Given the description of an element on the screen output the (x, y) to click on. 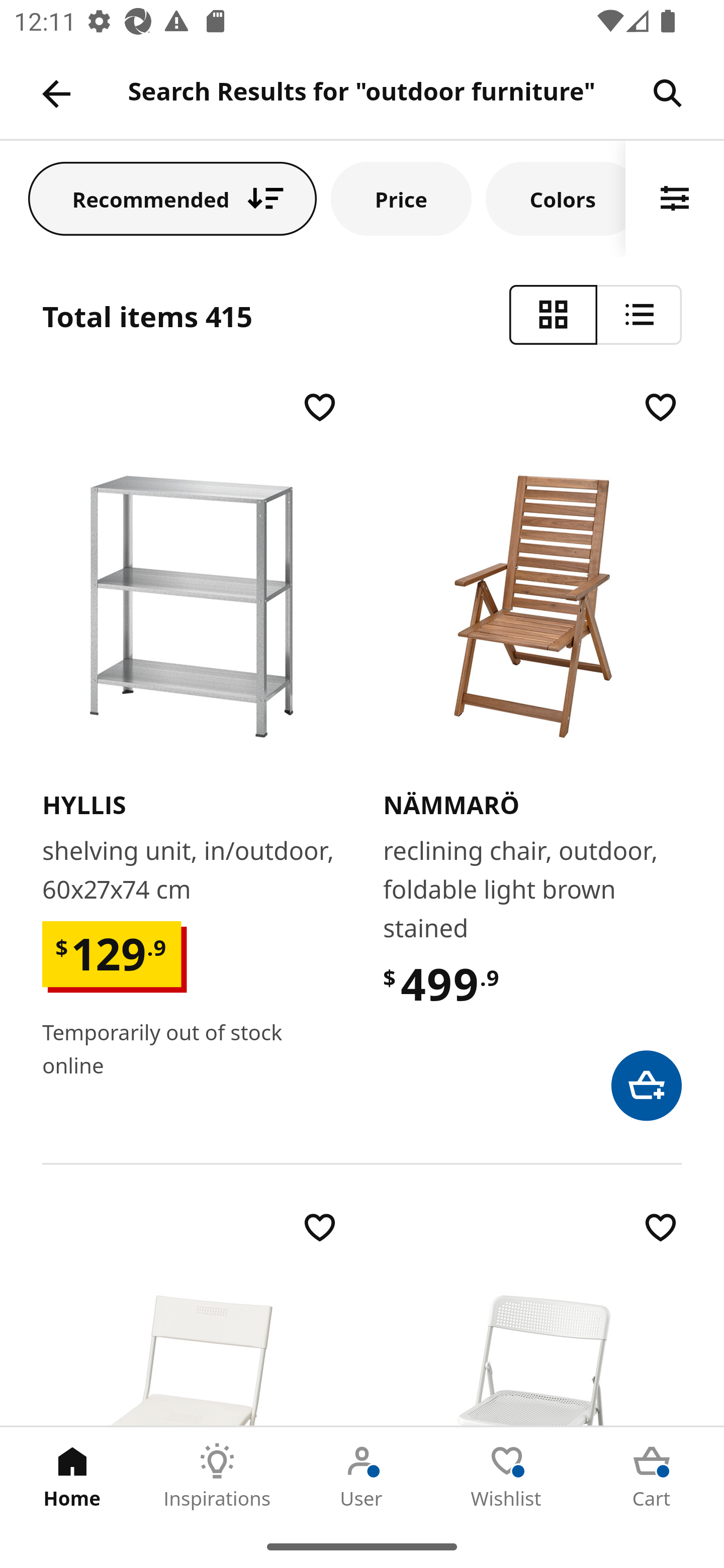
Recommended (172, 198)
Price (400, 198)
Colors (555, 198)
Home
Tab 1 of 5 (72, 1476)
Inspirations
Tab 2 of 5 (216, 1476)
User
Tab 3 of 5 (361, 1476)
Wishlist
Tab 4 of 5 (506, 1476)
Cart
Tab 5 of 5 (651, 1476)
